Given the description of an element on the screen output the (x, y) to click on. 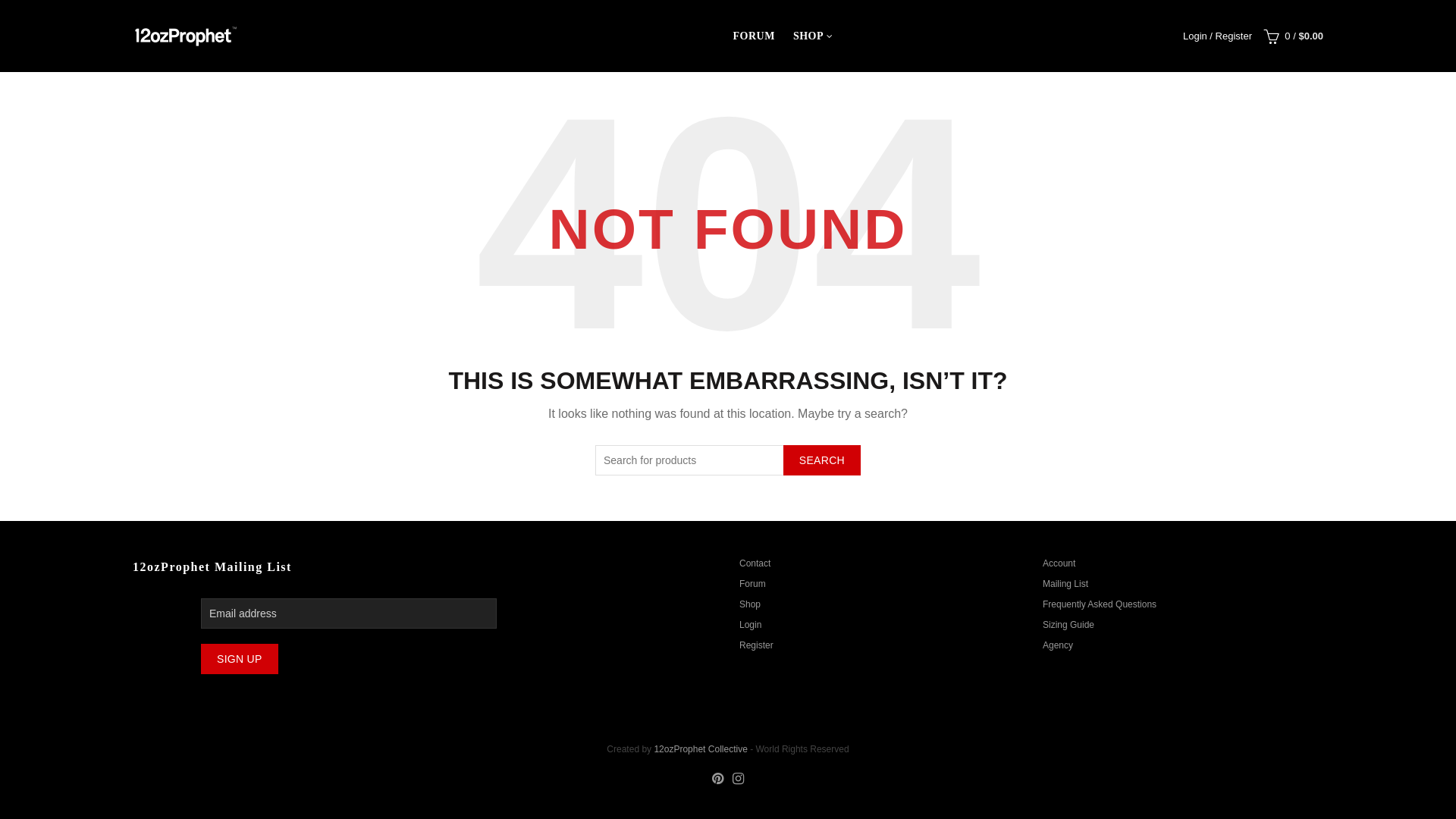
Login Element type: text (750, 624)
Frequently Asked Questions Element type: text (1099, 604)
Shop Element type: text (749, 604)
Login / Register Element type: text (1217, 34)
Forum Element type: text (752, 583)
FORUM Element type: text (753, 36)
Account Element type: text (1058, 563)
Agency Element type: text (1057, 645)
SEARCH Element type: text (821, 460)
Sizing Guide Element type: text (1068, 624)
Mailing List Element type: text (1065, 583)
Sign up Element type: text (239, 658)
0 / $0.00 Element type: text (1291, 35)
SHOP Element type: text (808, 36)
12ozProphet Collective Element type: text (699, 748)
Register Element type: text (756, 645)
Contact Element type: text (754, 563)
